Given the description of an element on the screen output the (x, y) to click on. 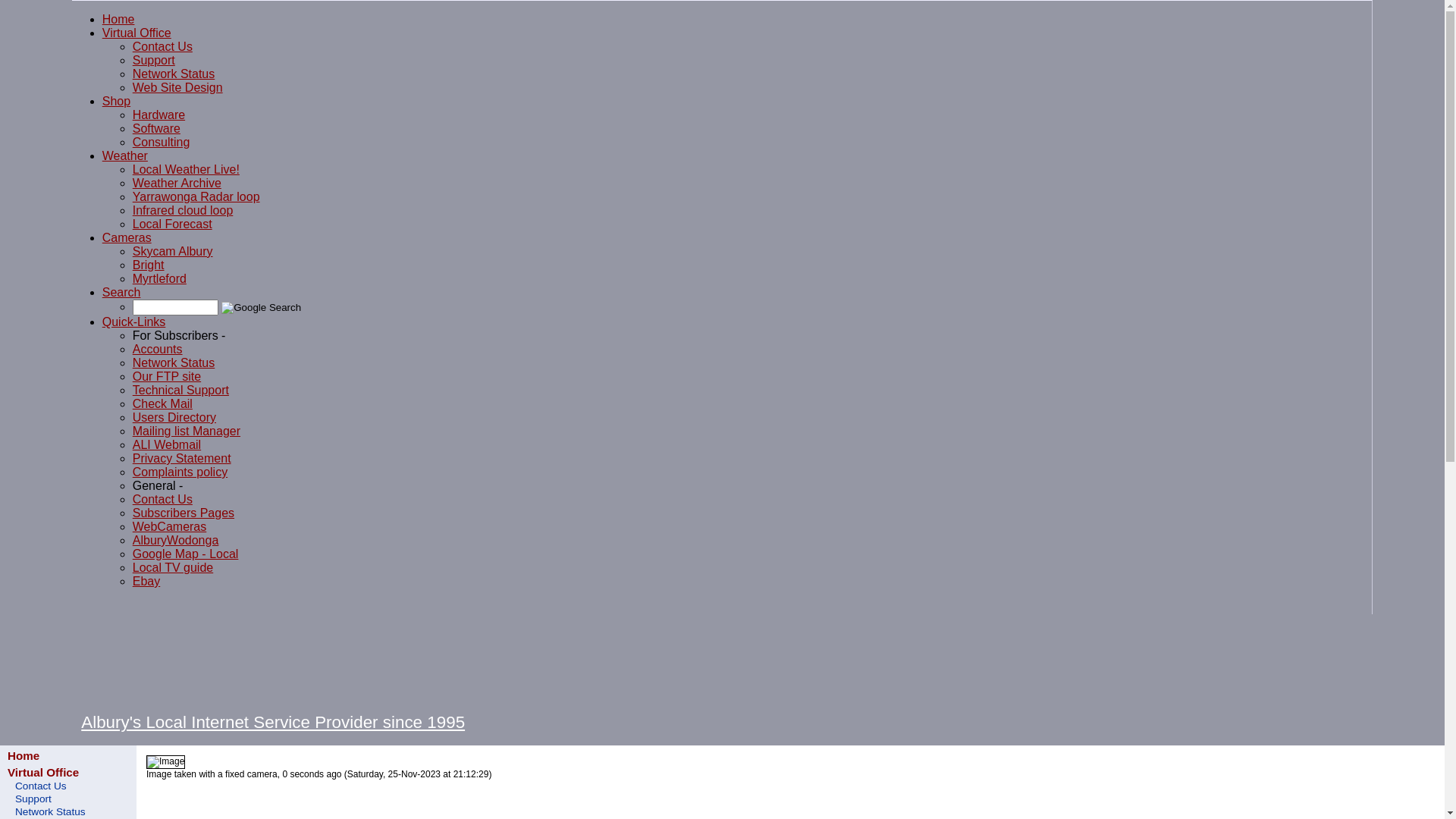
Complaints policy Element type: text (179, 471)
Contact Us Element type: text (162, 498)
Contact Us Element type: text (67, 784)
Accounts Element type: text (157, 348)
Quick-Links Element type: text (134, 321)
Shop Element type: text (116, 100)
Weather Archive Element type: text (176, 182)
Albury's Local Internet Service Provider since 1995 Element type: text (272, 721)
Skycam Albury Element type: text (172, 250)
Home Element type: text (118, 18)
Local Forecast Element type: text (172, 223)
Network Status Element type: text (67, 810)
Myrtleford Element type: text (159, 278)
Virtual Office Element type: text (42, 771)
Hardware Element type: text (158, 114)
Mailing list Manager Element type: text (186, 430)
Cameras Element type: text (126, 237)
Support Element type: text (67, 797)
Ebay Element type: text (146, 580)
Bright Element type: text (148, 264)
Yarrawonga Radar loop Element type: text (196, 196)
Search Element type: text (121, 291)
Privacy Statement Element type: text (181, 457)
Users Directory Element type: text (174, 417)
Virtual Office Element type: text (136, 32)
Support Element type: text (153, 59)
Technical Support Element type: text (180, 389)
Our FTP site Element type: text (166, 376)
Local TV guide Element type: text (172, 567)
AlburyWodonga Element type: text (175, 539)
Check Mail Element type: text (162, 403)
Infrared cloud loop Element type: text (182, 209)
WebCameras Element type: text (169, 526)
Google Map - Local Element type: text (185, 553)
Web Site Design Element type: text (177, 87)
Network Status Element type: text (173, 362)
Home Element type: text (23, 755)
Consulting Element type: text (161, 141)
Weather Element type: text (124, 155)
Network Status Element type: text (173, 73)
ALI Webmail Element type: text (166, 444)
Contact Us Element type: text (162, 46)
Local Weather Live! Element type: text (185, 169)
Software Element type: text (156, 128)
Subscribers Pages Element type: text (183, 512)
